Given the description of an element on the screen output the (x, y) to click on. 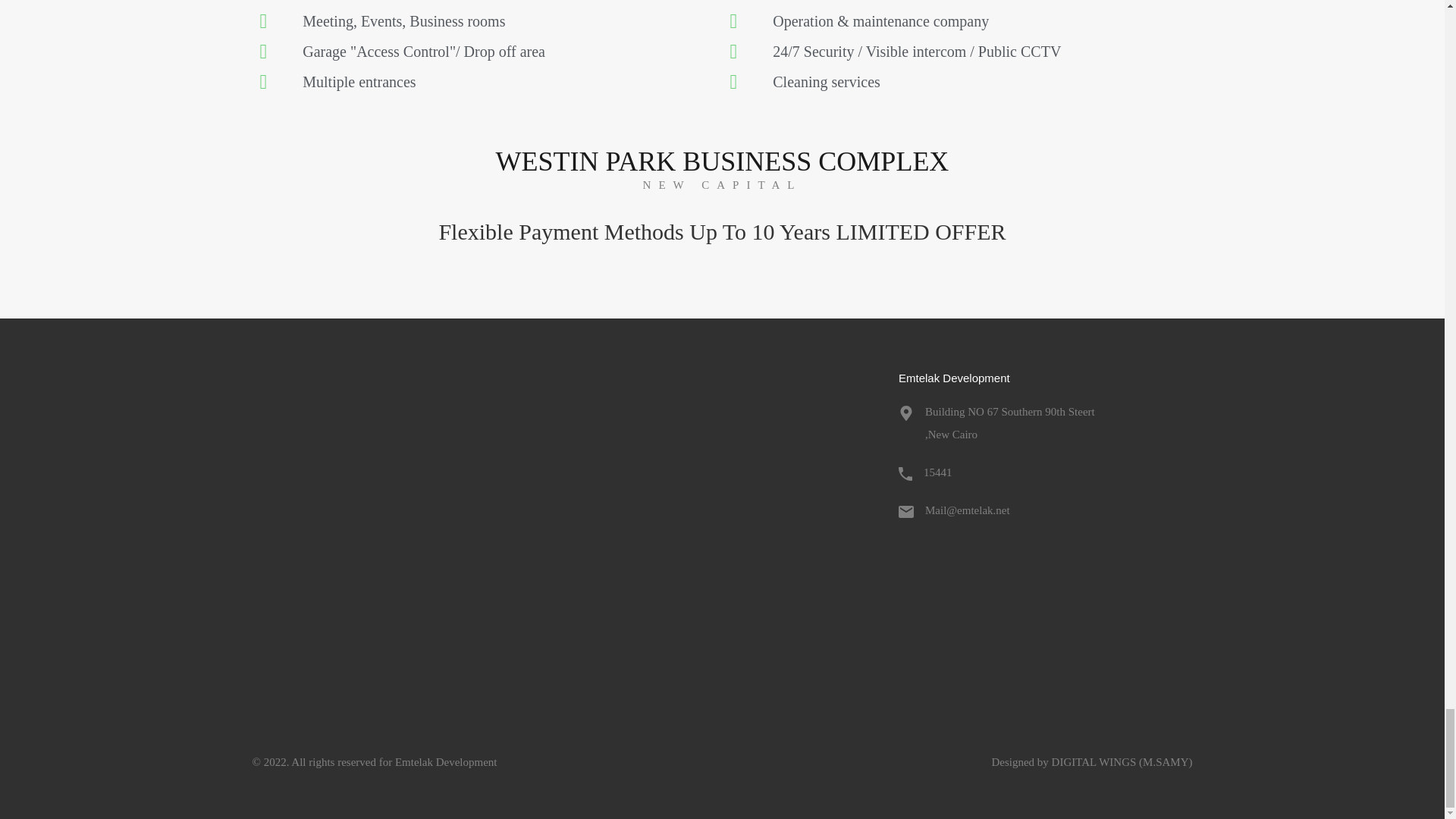
15441 (937, 472)
